Given the description of an element on the screen output the (x, y) to click on. 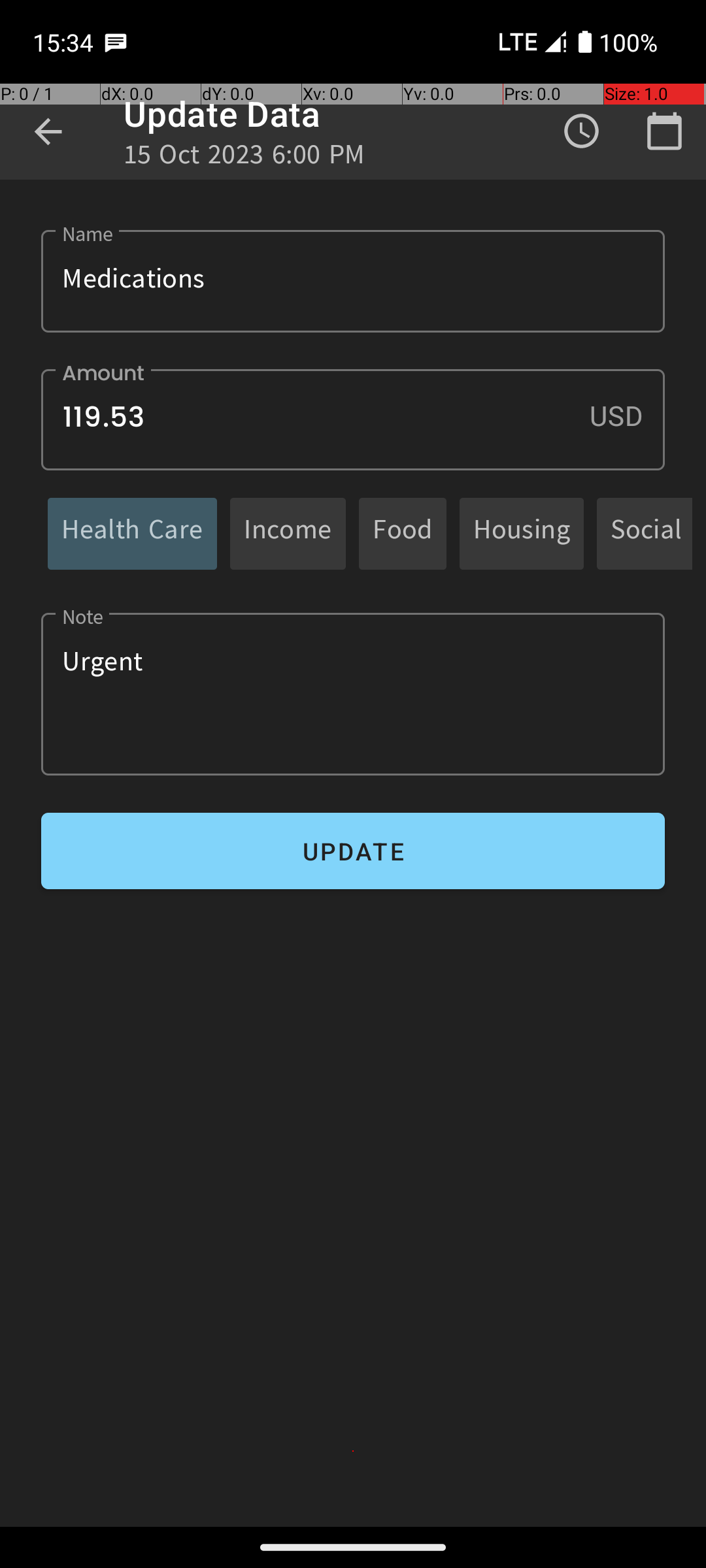
15 Oct 2023 6:00 PM Element type: android.widget.TextView (244, 157)
Medications Element type: android.widget.EditText (352, 280)
119.53 Element type: android.widget.EditText (352, 419)
Health Care Element type: android.widget.TextView (132, 533)
SMS Messenger notification: Juan Alves Element type: android.widget.ImageView (115, 41)
